Given the description of an element on the screen output the (x, y) to click on. 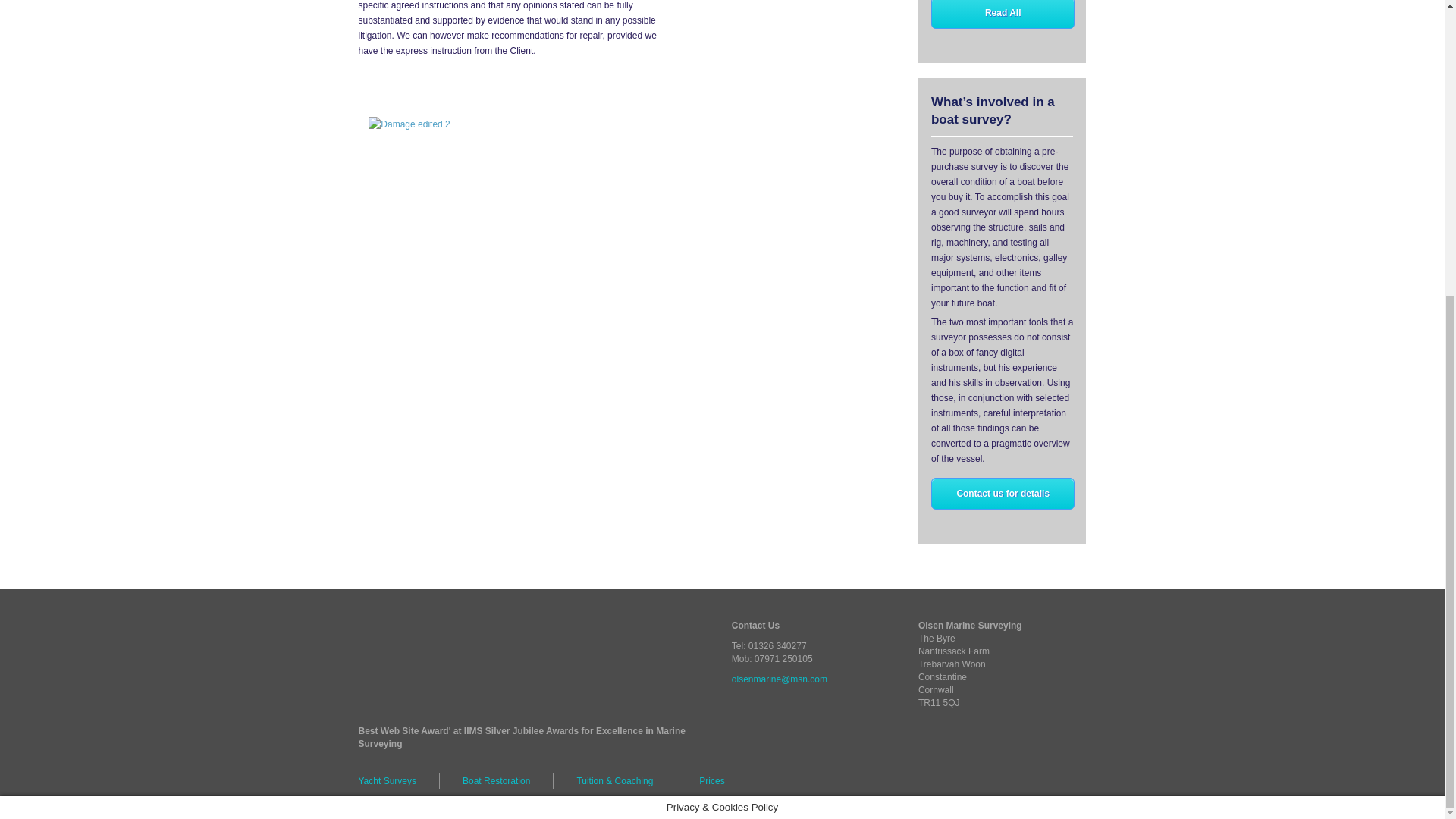
Contact us for details (1003, 493)
Prices (711, 780)
Read All (1003, 14)
Boat Restoration (496, 780)
Yacht Surveys (398, 780)
